Given the description of an element on the screen output the (x, y) to click on. 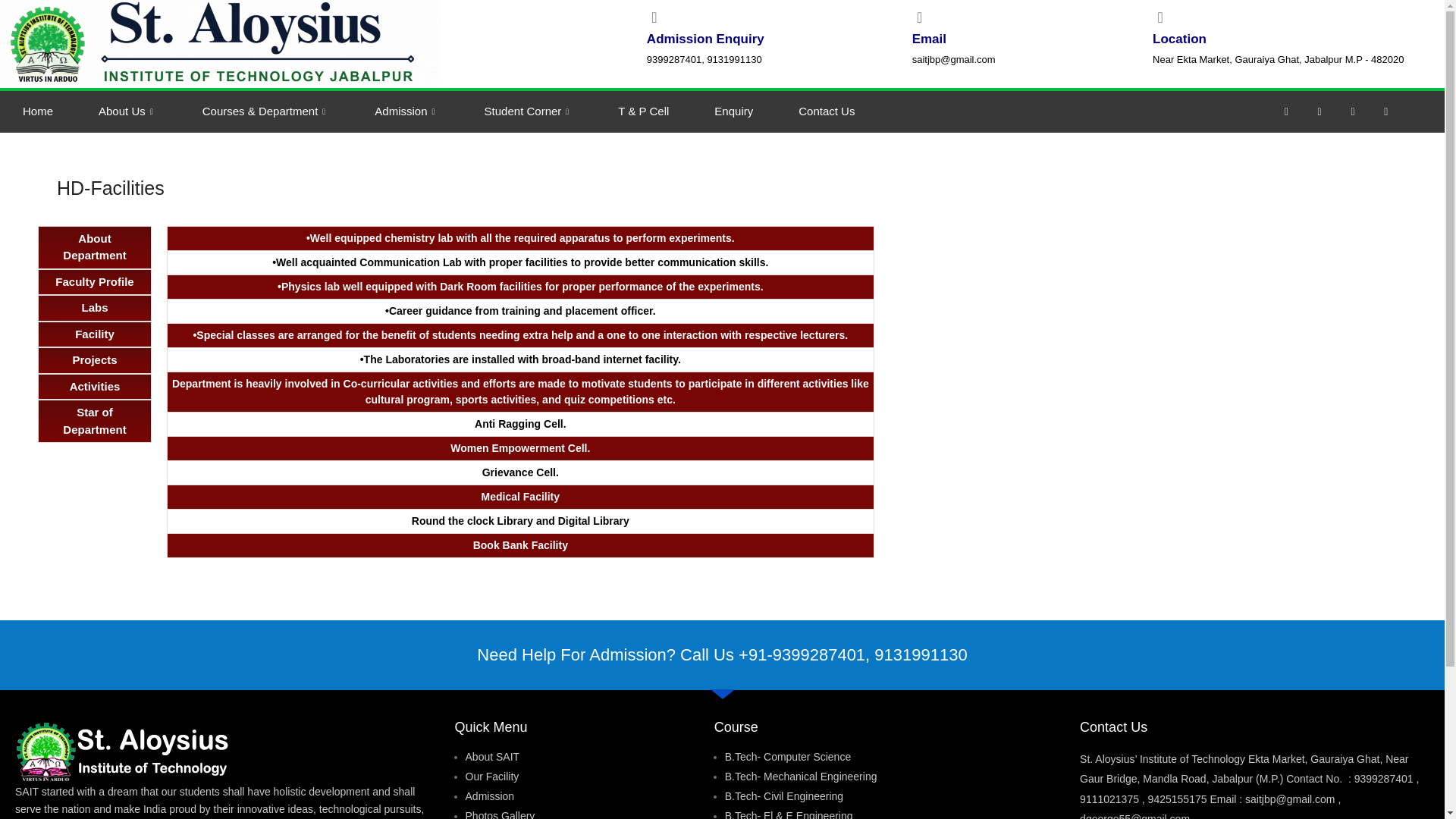
Home (37, 111)
About Us (127, 111)
Admission (406, 111)
Student Corner (528, 111)
